Given the description of an element on the screen output the (x, y) to click on. 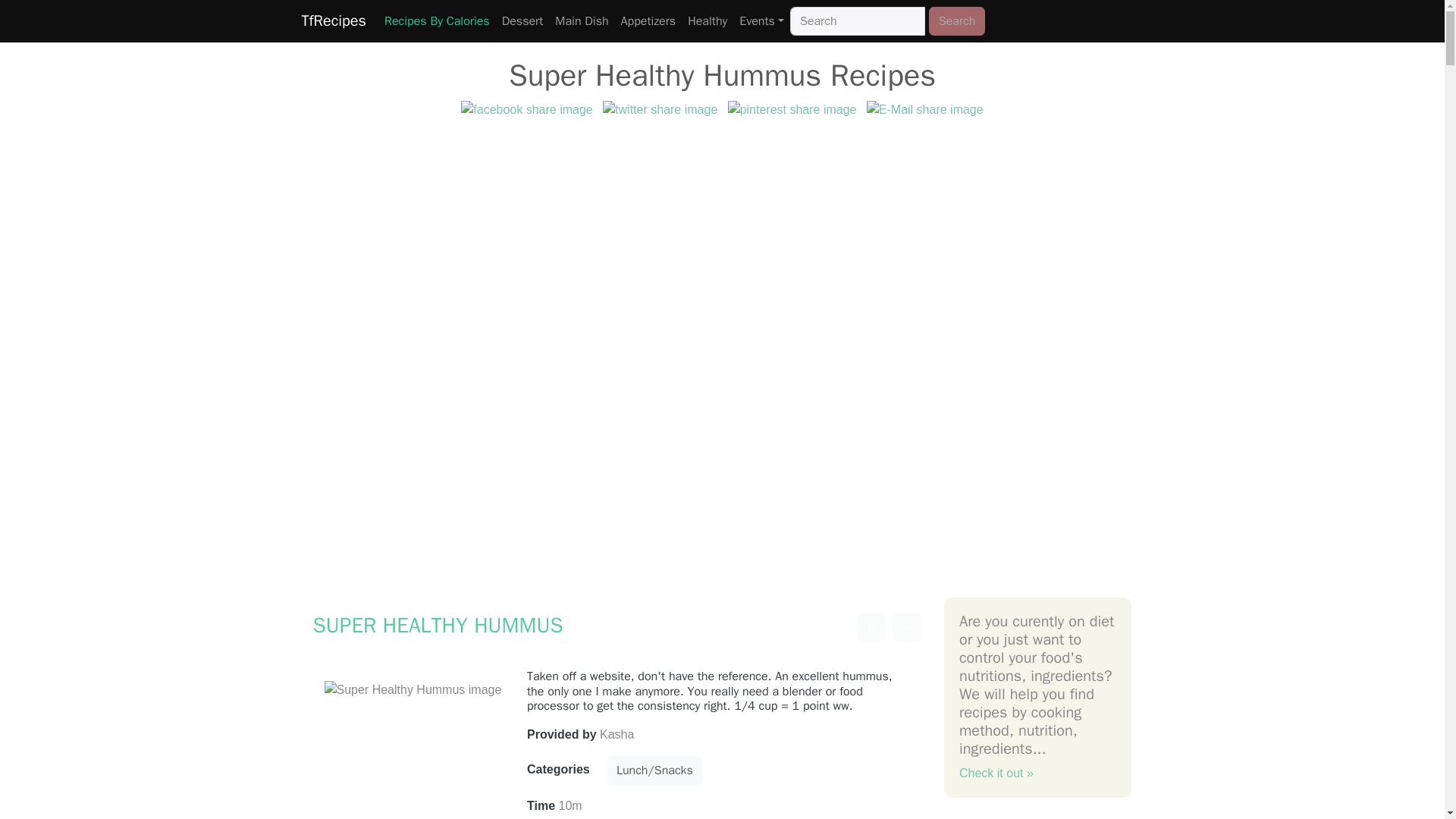
TfRecipes (333, 20)
Pinterest Share (792, 108)
Recipes By Calories (437, 20)
Healthy (707, 20)
E-Mail Share (925, 108)
Main Dish (581, 20)
8 (906, 626)
Appetizers (648, 20)
Search (956, 21)
6 (871, 626)
